Given the description of an element on the screen output the (x, y) to click on. 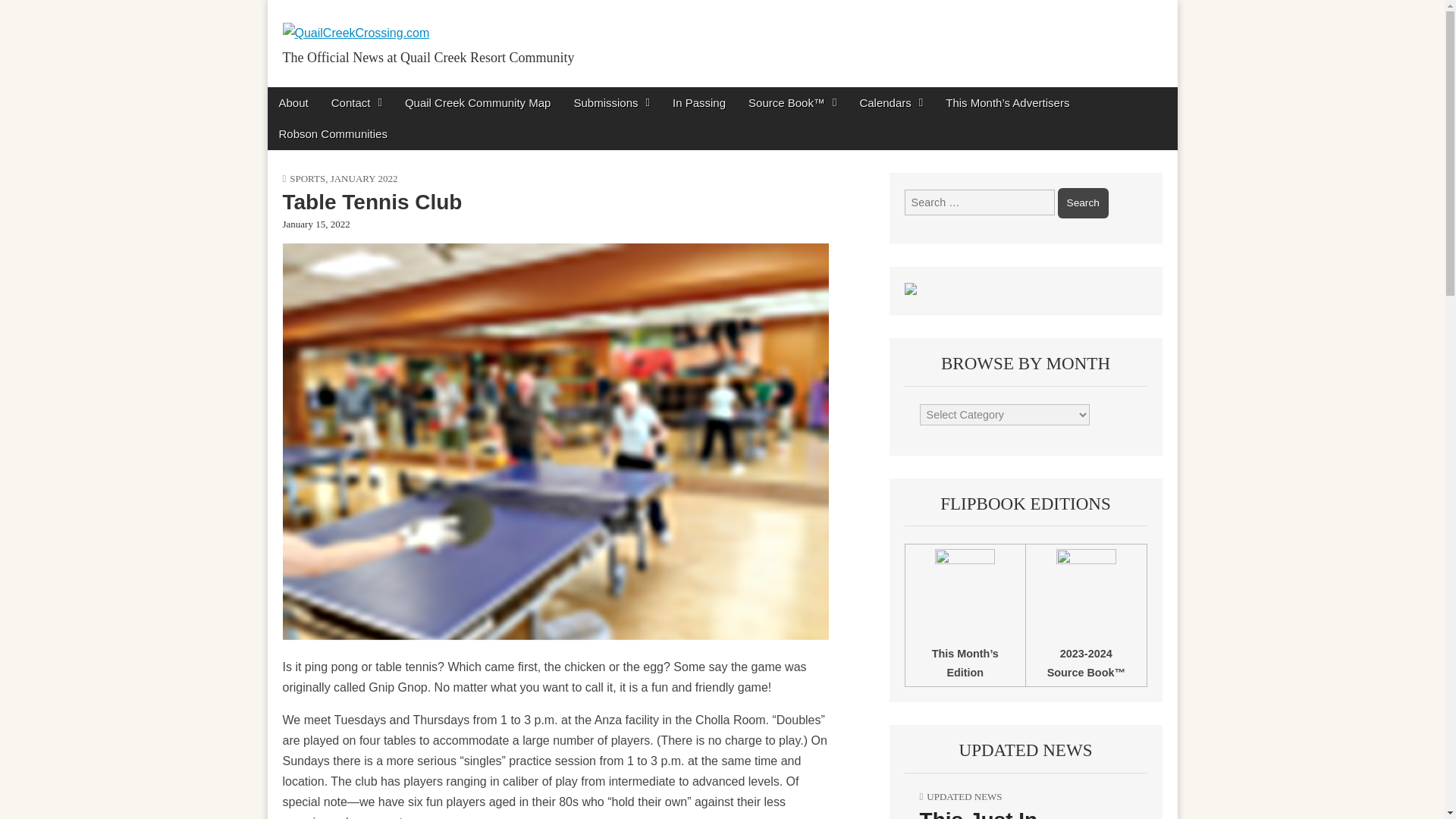
Submissions (611, 101)
QuailCreekCrossing.com (355, 21)
Quail Creek Community Map (477, 101)
Search (1083, 203)
Search (1083, 203)
SPORTS (306, 178)
Calendars (890, 101)
JANUARY 2022 (363, 178)
Contact (356, 101)
